Given the description of an element on the screen output the (x, y) to click on. 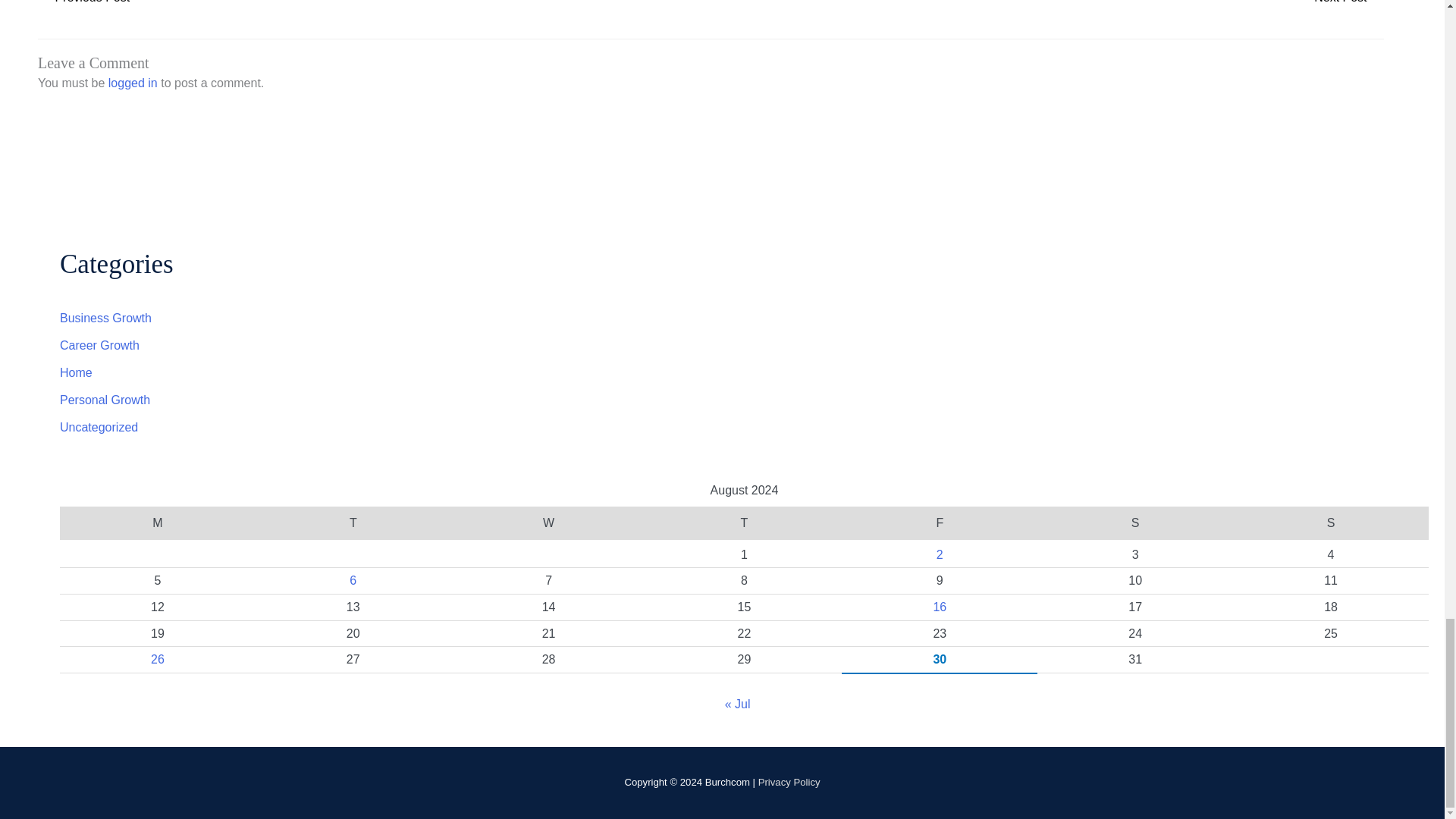
What Are the Roles and Responsibilities of a Paralegal? (84, 6)
Tuesday (353, 522)
logged in (132, 82)
Uncategorized (98, 427)
Career Growth (99, 345)
16 (939, 606)
Business Growth (105, 318)
Personal Growth (104, 399)
Home (76, 372)
Thursday (744, 522)
